Given the description of an element on the screen output the (x, y) to click on. 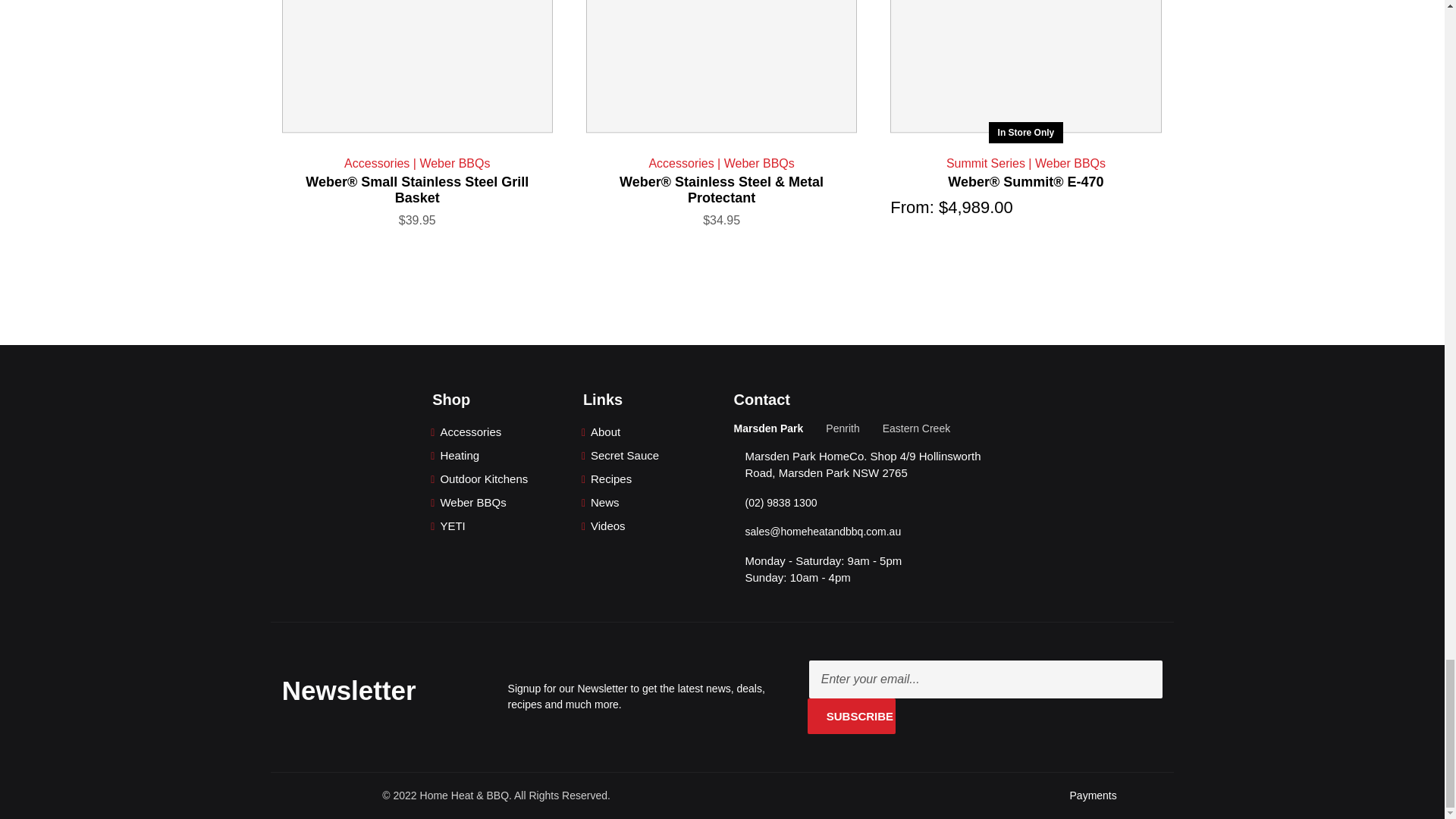
SUBSCRIBE (852, 715)
